Given the description of an element on the screen output the (x, y) to click on. 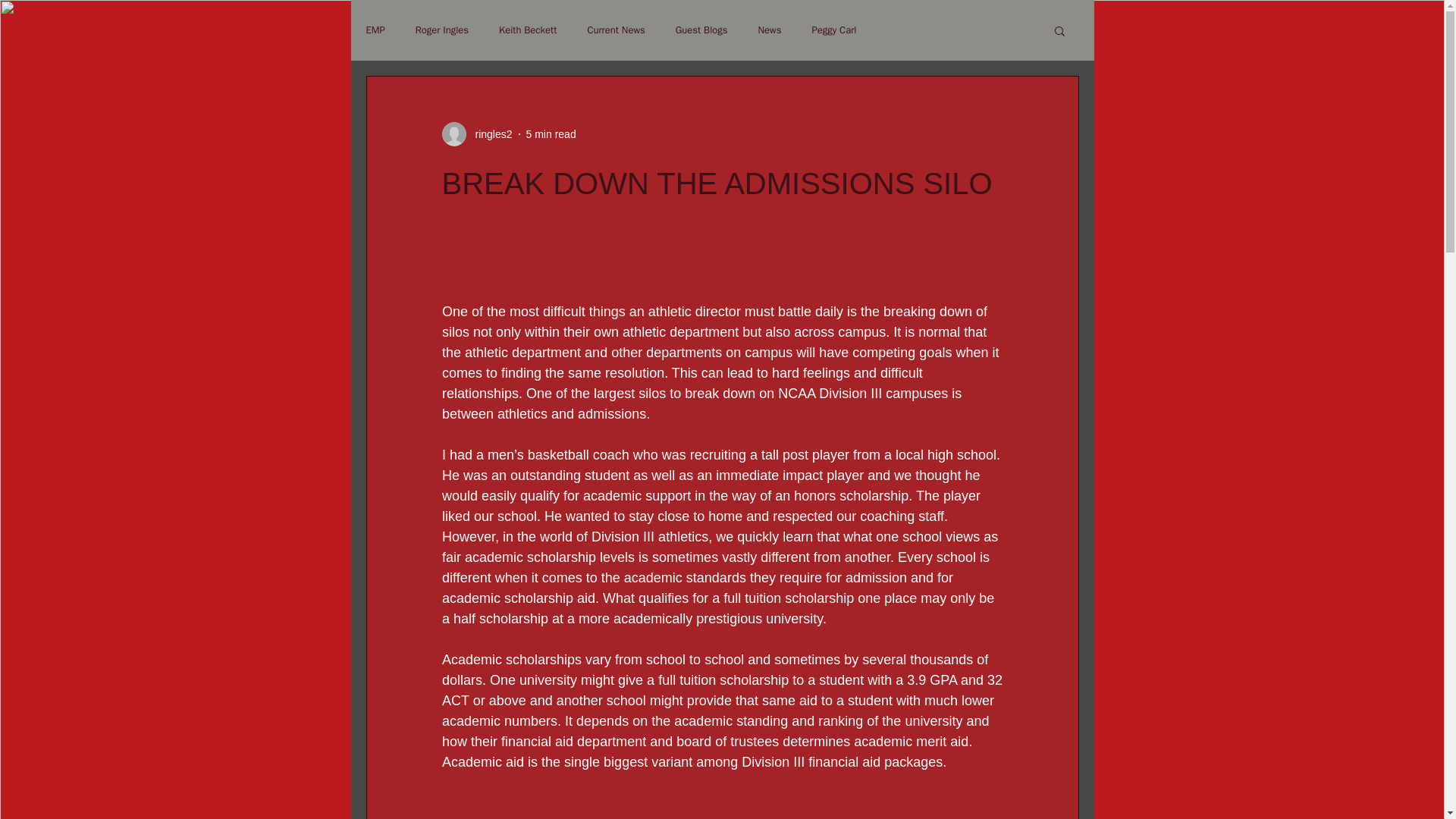
Current News (615, 29)
5 min read (550, 133)
ringles2 (488, 133)
Guest Blogs (701, 29)
ringles2 (476, 134)
Peggy Carl (833, 29)
Twitter Follow (920, 248)
News (769, 29)
Roger Ingles (441, 29)
Keith Beckett (527, 29)
